Given the description of an element on the screen output the (x, y) to click on. 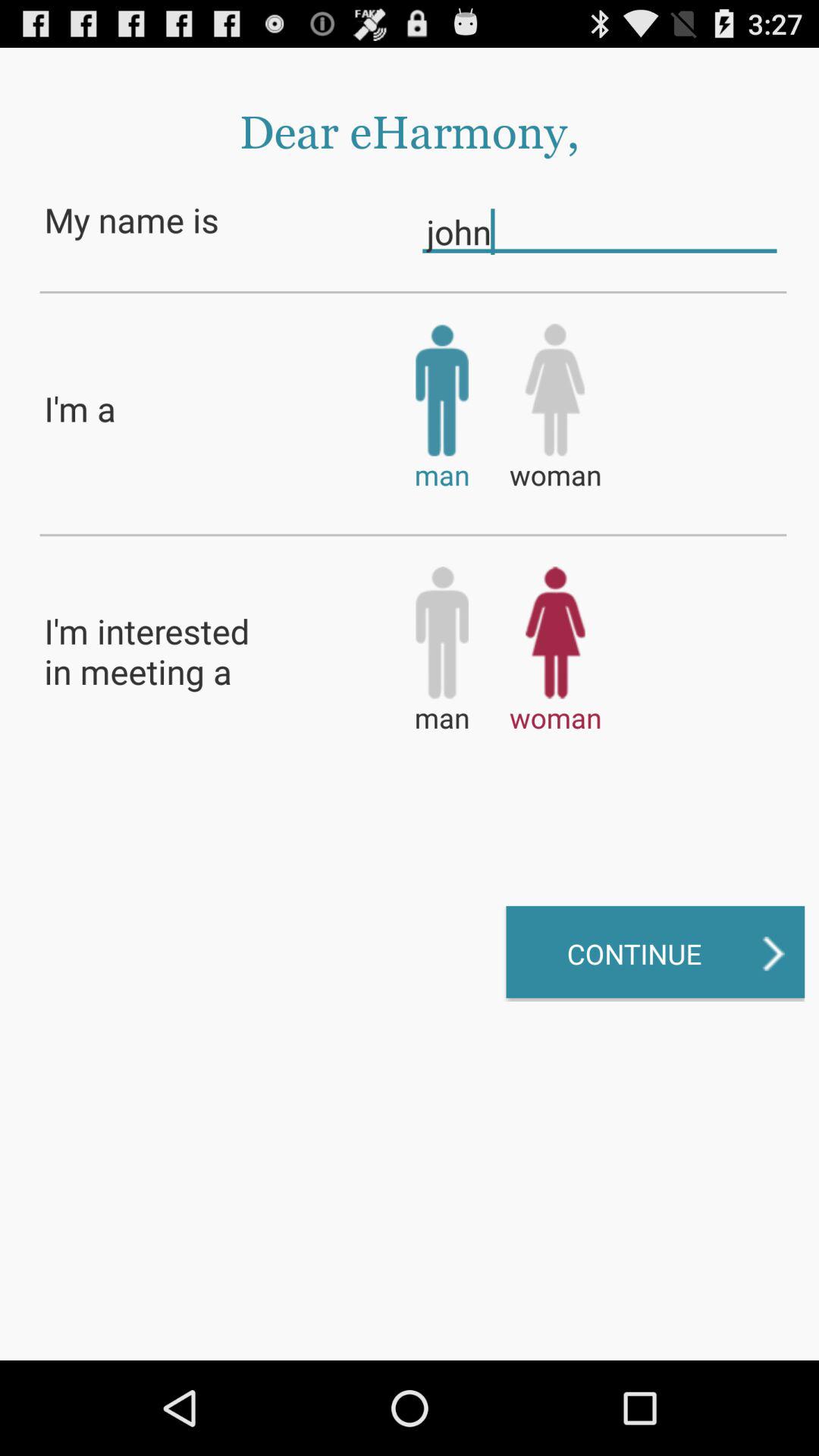
turn off continue item (655, 953)
